Given the description of an element on the screen output the (x, y) to click on. 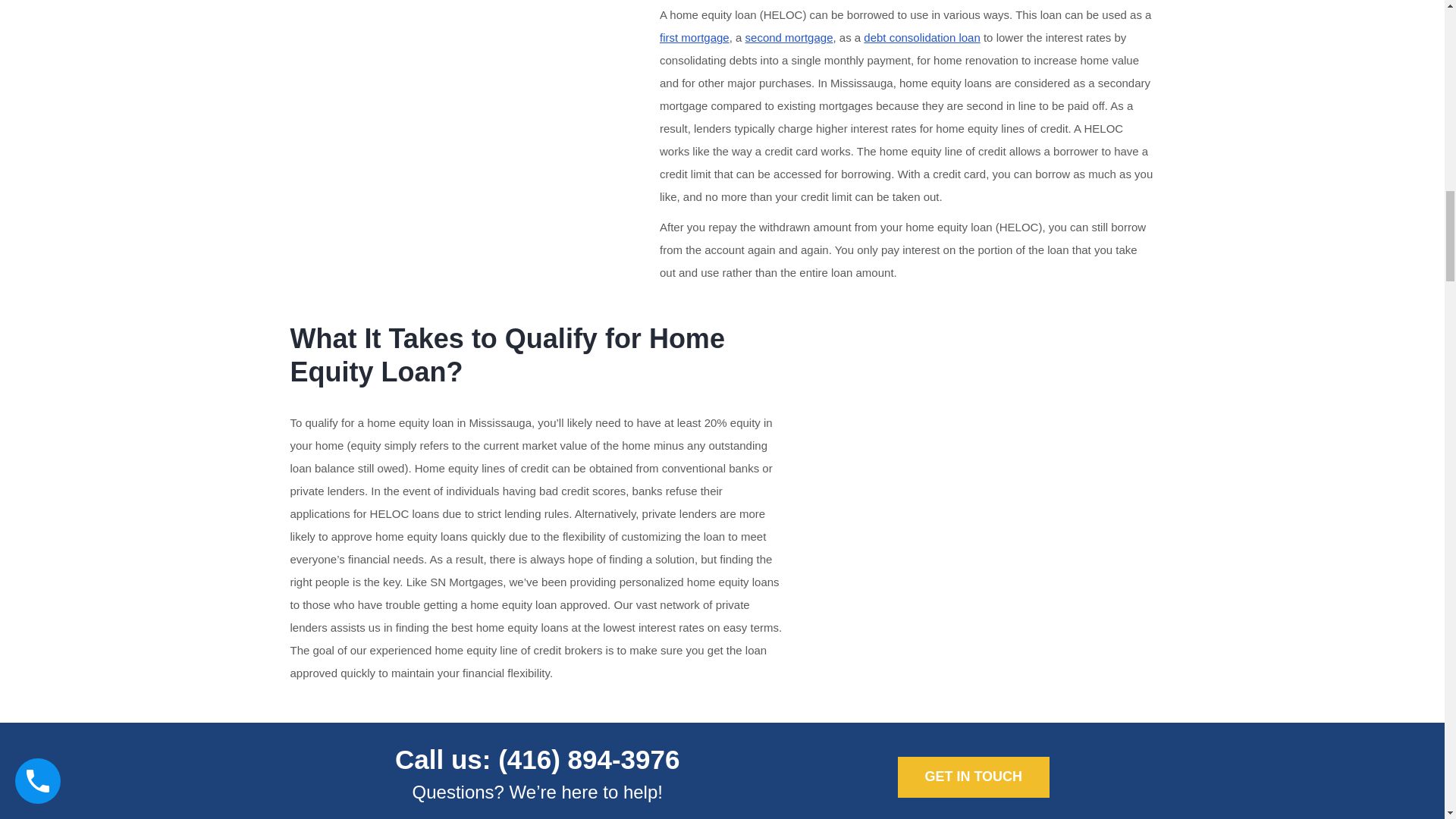
second mortgage (788, 37)
GET IN TOUCH (973, 776)
debt consolidation loan (921, 37)
first mortgage (694, 37)
